Given the description of an element on the screen output the (x, y) to click on. 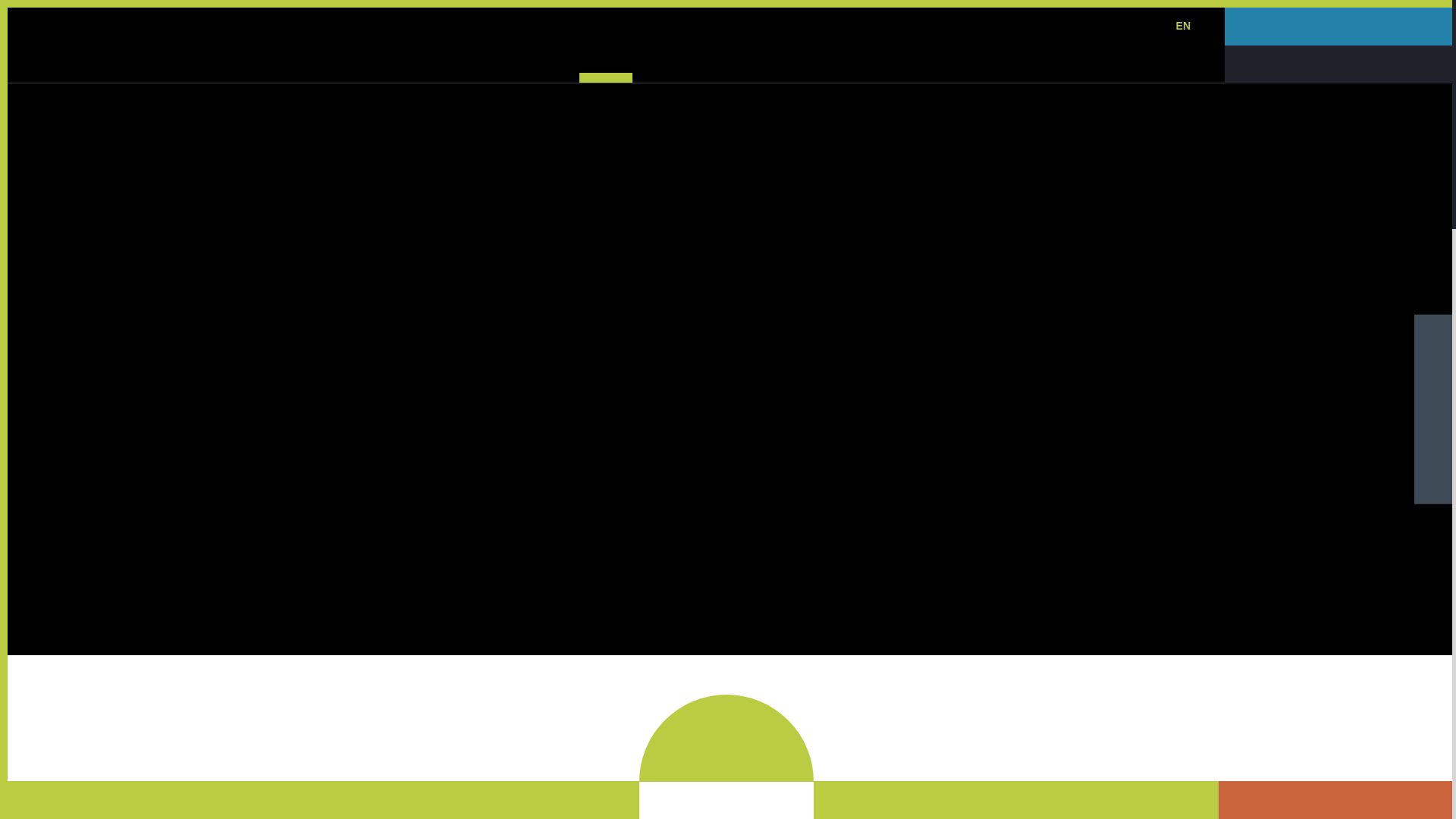
RESORT (497, 64)
EN (1182, 25)
SERVICES (966, 64)
EN (1182, 25)
DE (1154, 25)
Natural Village Resort (158, 52)
Newsletter (1033, 26)
IT (1128, 25)
IT (1128, 25)
BIKE (701, 64)
DE (605, 64)
Resort sun (1154, 25)
CULINARY BLISS (497, 64)
